Given the description of an element on the screen output the (x, y) to click on. 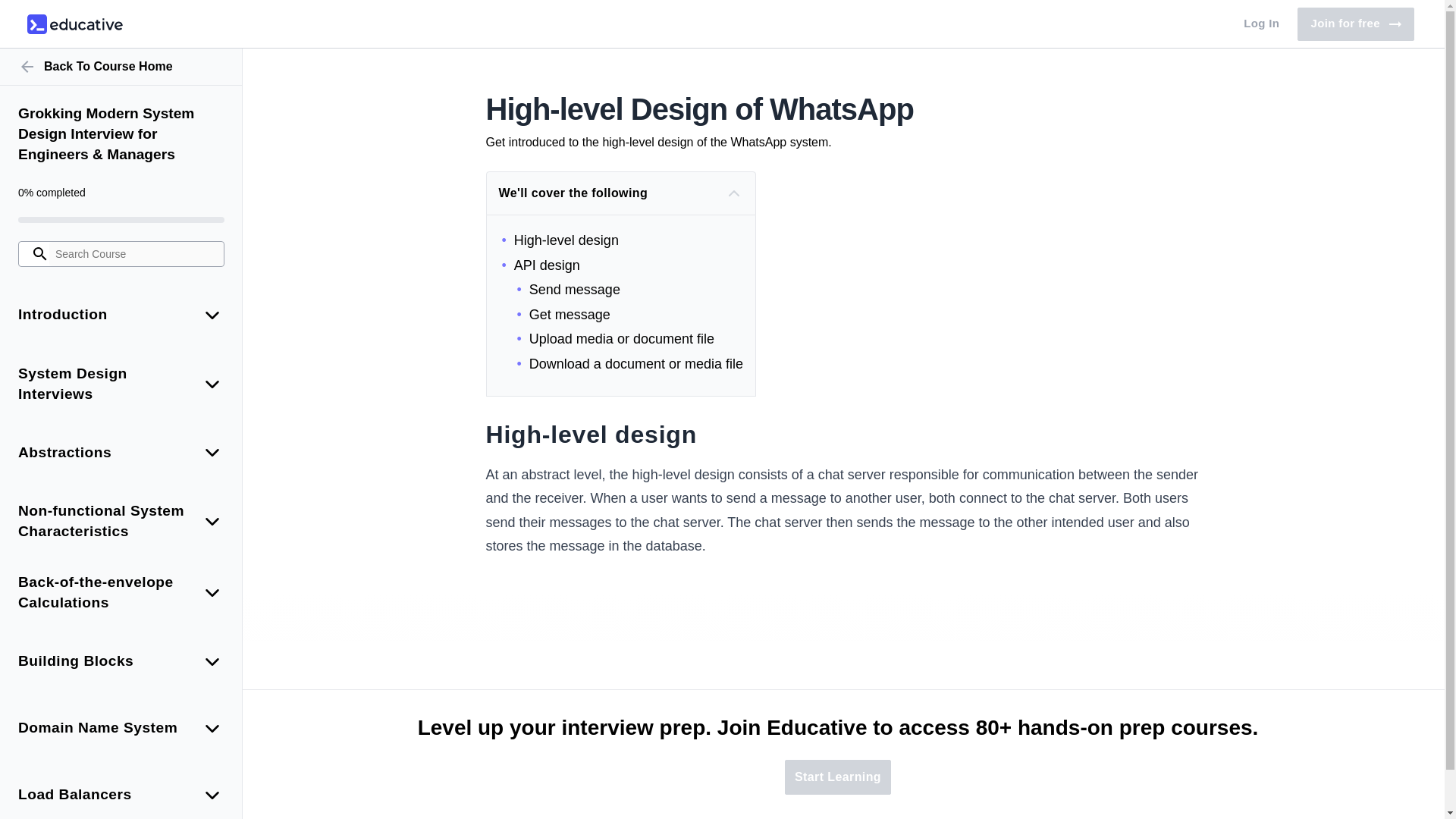
Back To Course Home (1355, 23)
educative.io (121, 66)
Log In (74, 23)
